Given the description of an element on the screen output the (x, y) to click on. 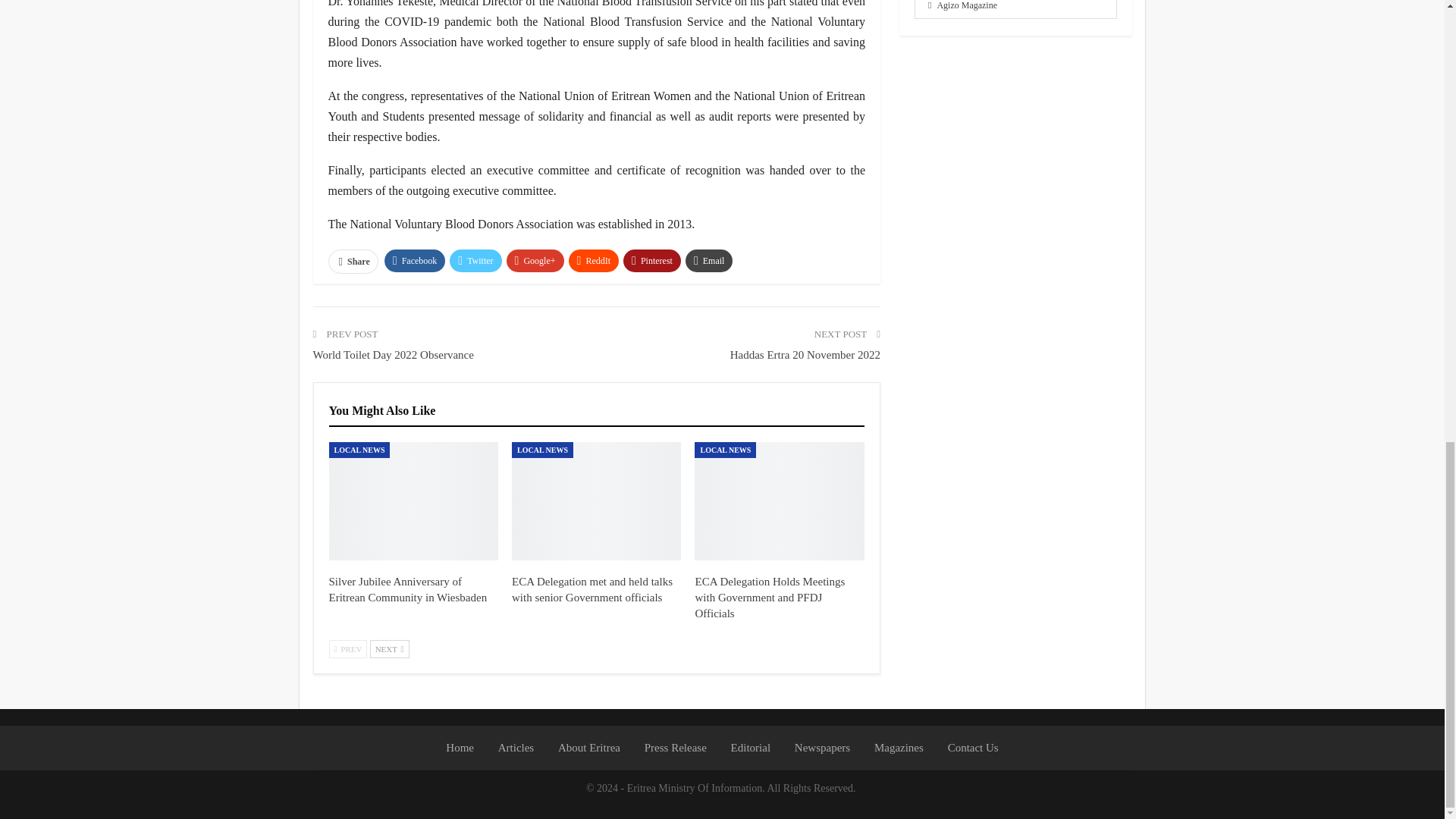
Previous (348, 648)
Next (389, 648)
